Given the description of an element on the screen output the (x, y) to click on. 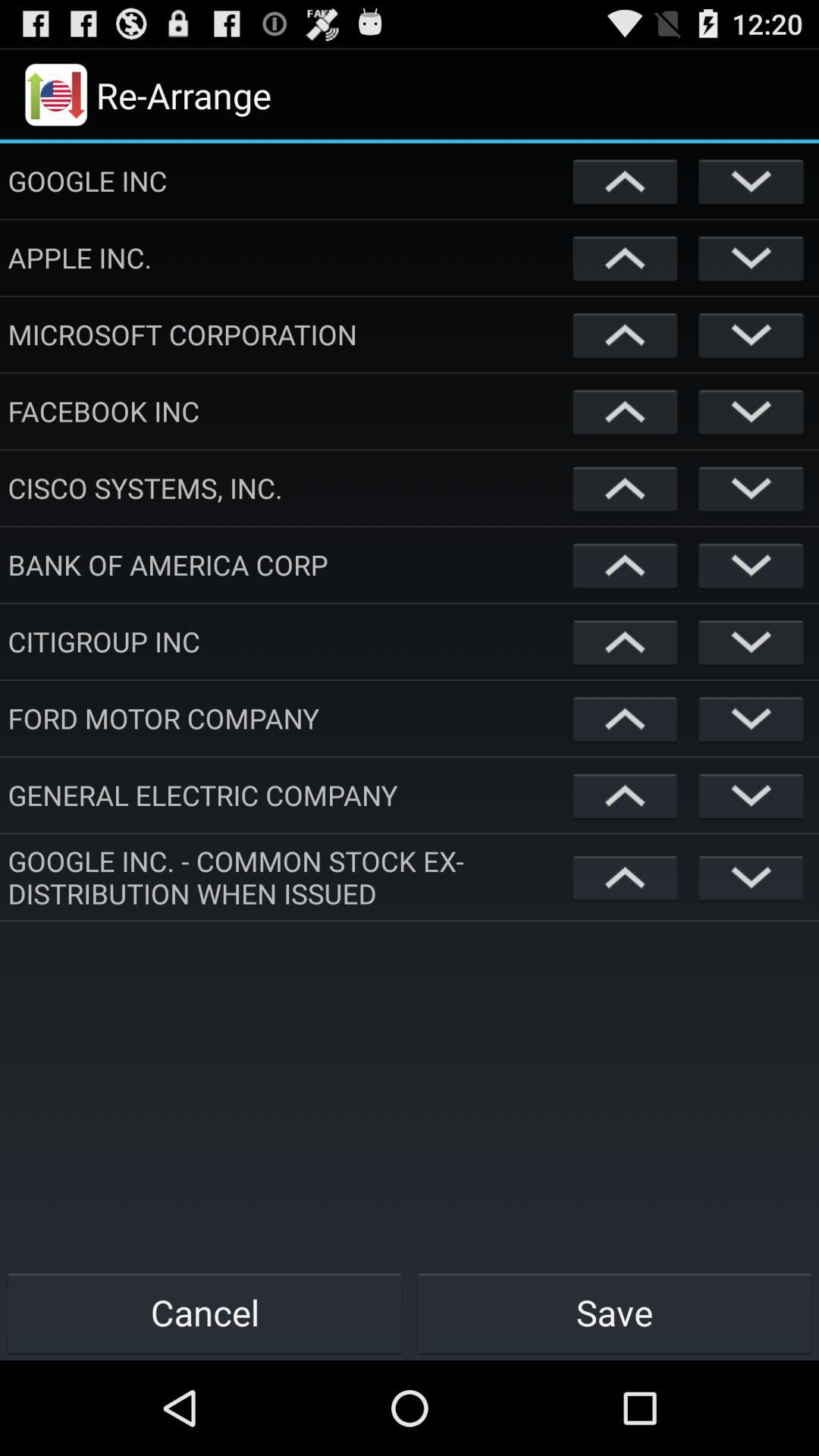
move app up (624, 488)
